Given the description of an element on the screen output the (x, y) to click on. 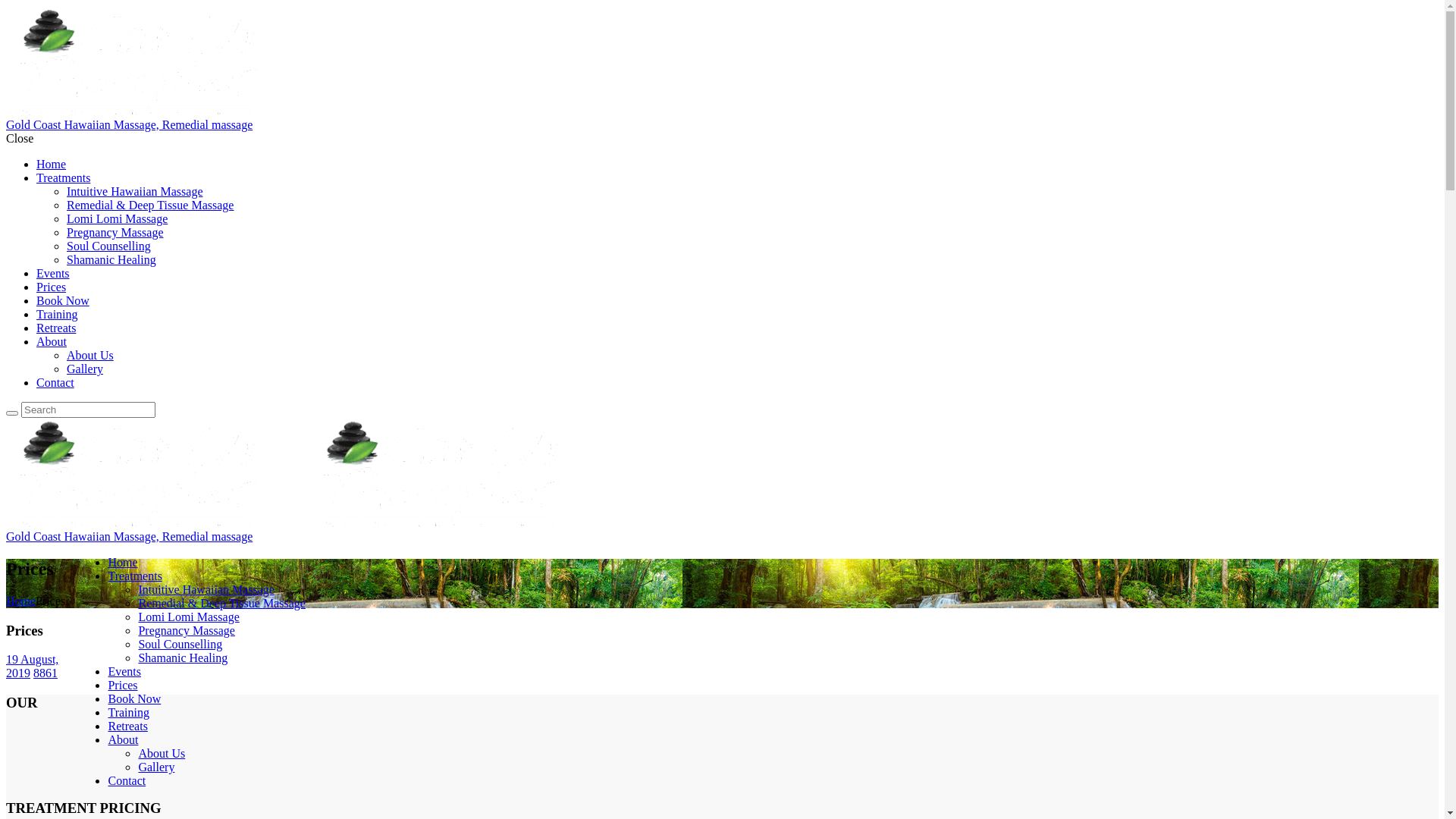
Intuitive Hawaiian Massage Element type: text (206, 589)
Remedial & Deep Tissue Massage Element type: text (221, 602)
Prices Element type: text (122, 684)
Home Element type: text (122, 561)
Remedial & Deep Tissue Massage Element type: text (149, 204)
Gallery Element type: text (156, 766)
Start search Element type: hover (12, 413)
Events Element type: text (124, 671)
Pregnancy Massage Element type: text (114, 231)
Gold Coast Hawaiian Massage, Remedial massage Element type: text (722, 529)
Treatments Element type: text (134, 575)
19 August, 2019 Element type: text (32, 665)
Treatments Element type: text (63, 177)
Home Element type: text (20, 600)
Contact Element type: text (126, 780)
Events Element type: text (52, 272)
Lomi Lomi Massage Element type: text (188, 616)
Pregnancy Massage Element type: text (186, 630)
Soul Counselling Element type: text (108, 245)
Lomi Lomi Massage Element type: text (116, 218)
About Us Element type: text (161, 752)
Home Element type: text (50, 163)
Book Now Element type: text (62, 300)
Contact Element type: text (55, 382)
Shamanic Healing Element type: text (182, 657)
Book Now Element type: text (133, 698)
About Element type: text (122, 739)
Intuitive Hawaiian Massage Element type: text (134, 191)
About Us Element type: text (89, 354)
Training Element type: text (128, 712)
8861 Element type: text (45, 672)
Gold Coast Hawaiian Massage, Remedial massage Element type: text (722, 117)
Retreats Element type: text (127, 725)
Training Element type: text (57, 313)
Prices Element type: text (50, 286)
Gallery Element type: text (84, 368)
Shamanic Healing Element type: text (111, 259)
Soul Counselling Element type: text (180, 643)
Retreats Element type: text (55, 327)
About Element type: text (51, 341)
